Given the description of an element on the screen output the (x, y) to click on. 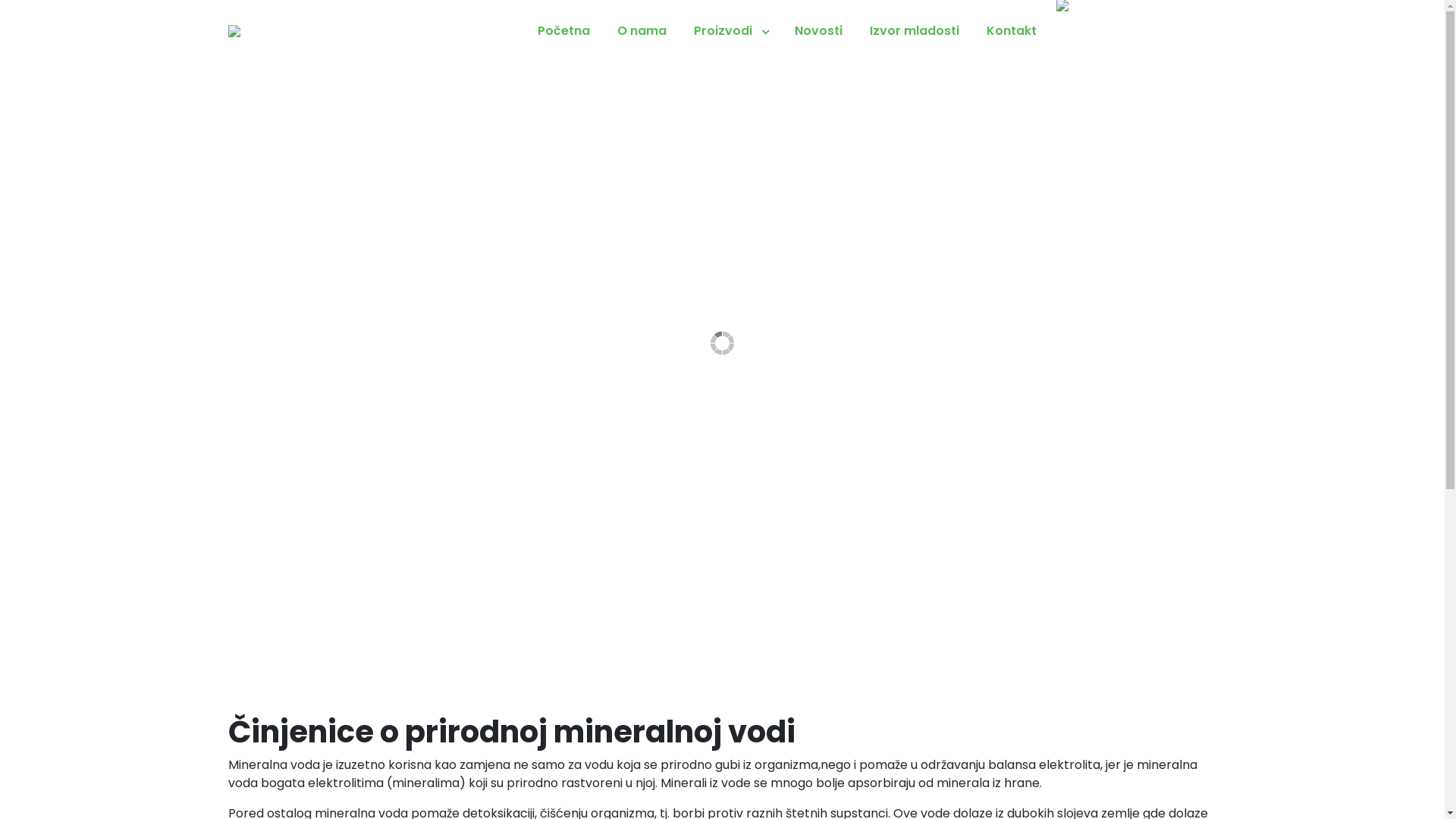
O nama Element type: text (641, 30)
Izvor mladosti Element type: text (913, 30)
Proizvodi Element type: text (729, 30)
Novosti Element type: text (818, 30)
Kontakt Element type: text (1010, 30)
